Given the description of an element on the screen output the (x, y) to click on. 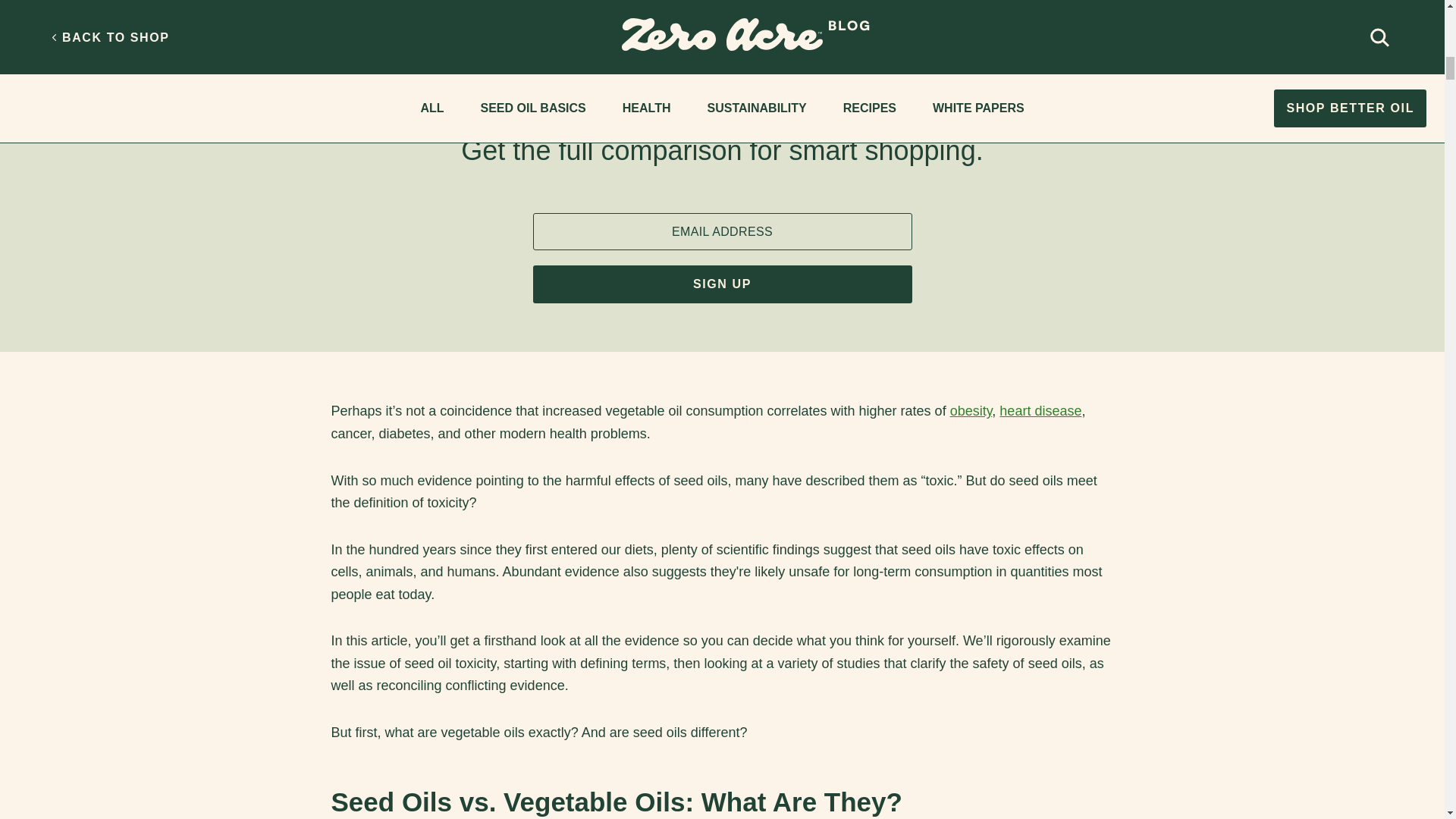
heart disease (1039, 410)
obesity (971, 410)
SIGN UP (721, 284)
